Given the description of an element on the screen output the (x, y) to click on. 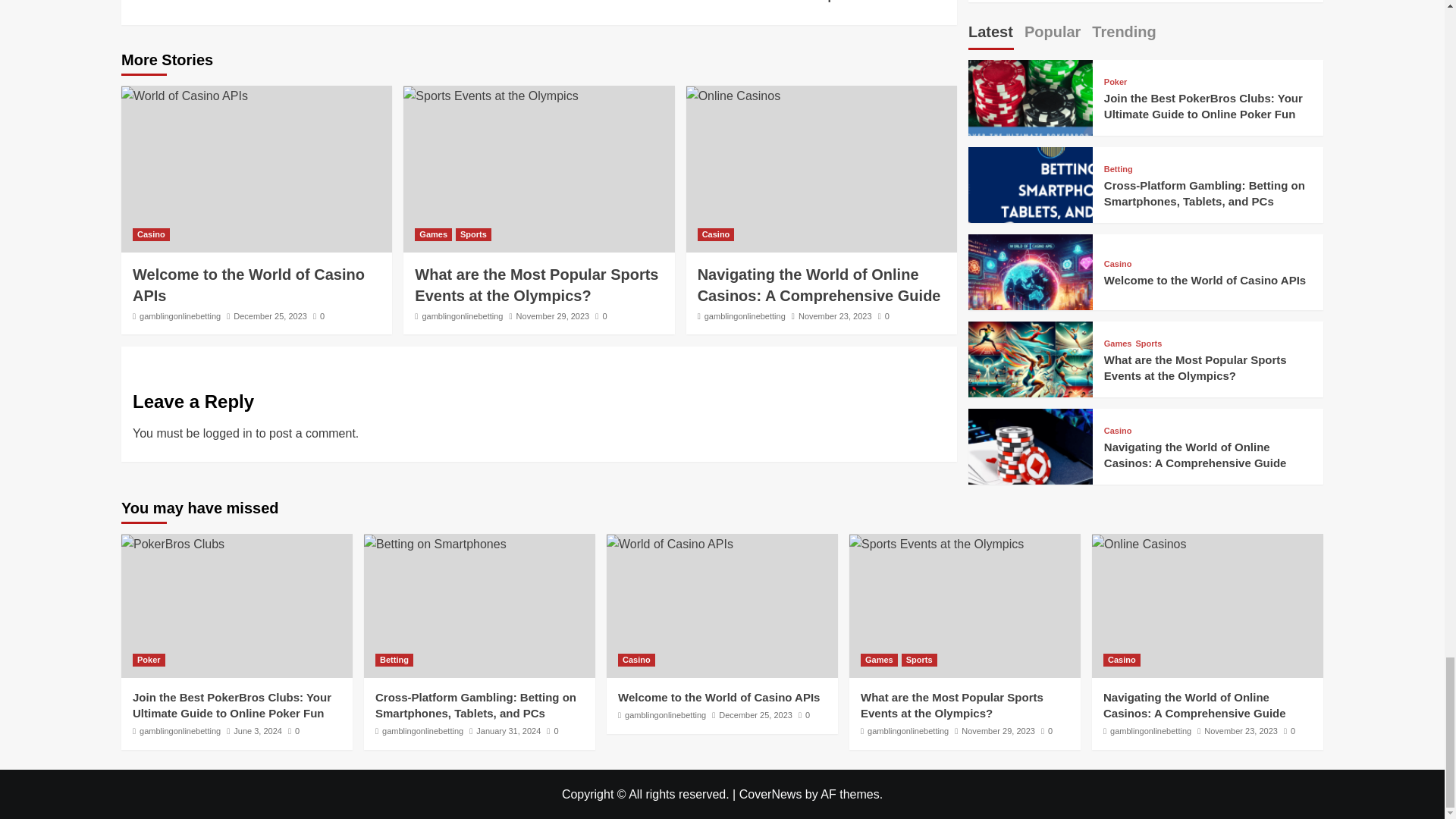
Welcome to the World of Casino APIs (335, 2)
Casino (248, 284)
gamblingonlinebetting (151, 234)
